Given the description of an element on the screen output the (x, y) to click on. 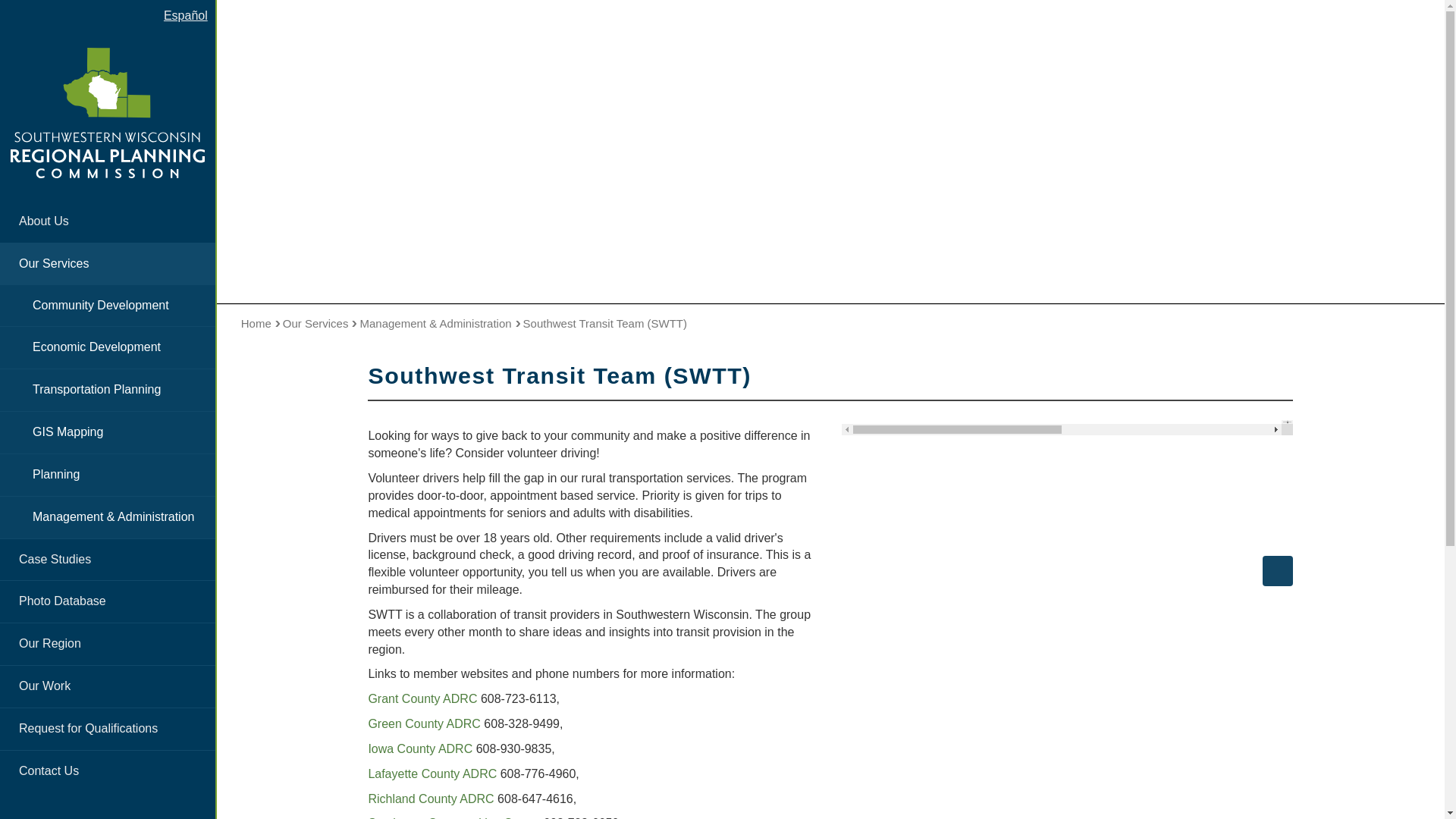
Economic Development (107, 347)
Our Services (107, 264)
Photo Database (107, 601)
More (1277, 571)
Case Studies (107, 559)
Our Work (107, 686)
GIS Mapping (107, 432)
Transportation Planning (107, 390)
Iowa County ADRC (419, 748)
Green County ADRC (424, 723)
Grant County ADRC (422, 698)
About Us (107, 221)
Our Region (107, 644)
Lafayette County ADRC (432, 773)
Our Services (320, 323)
